Given the description of an element on the screen output the (x, y) to click on. 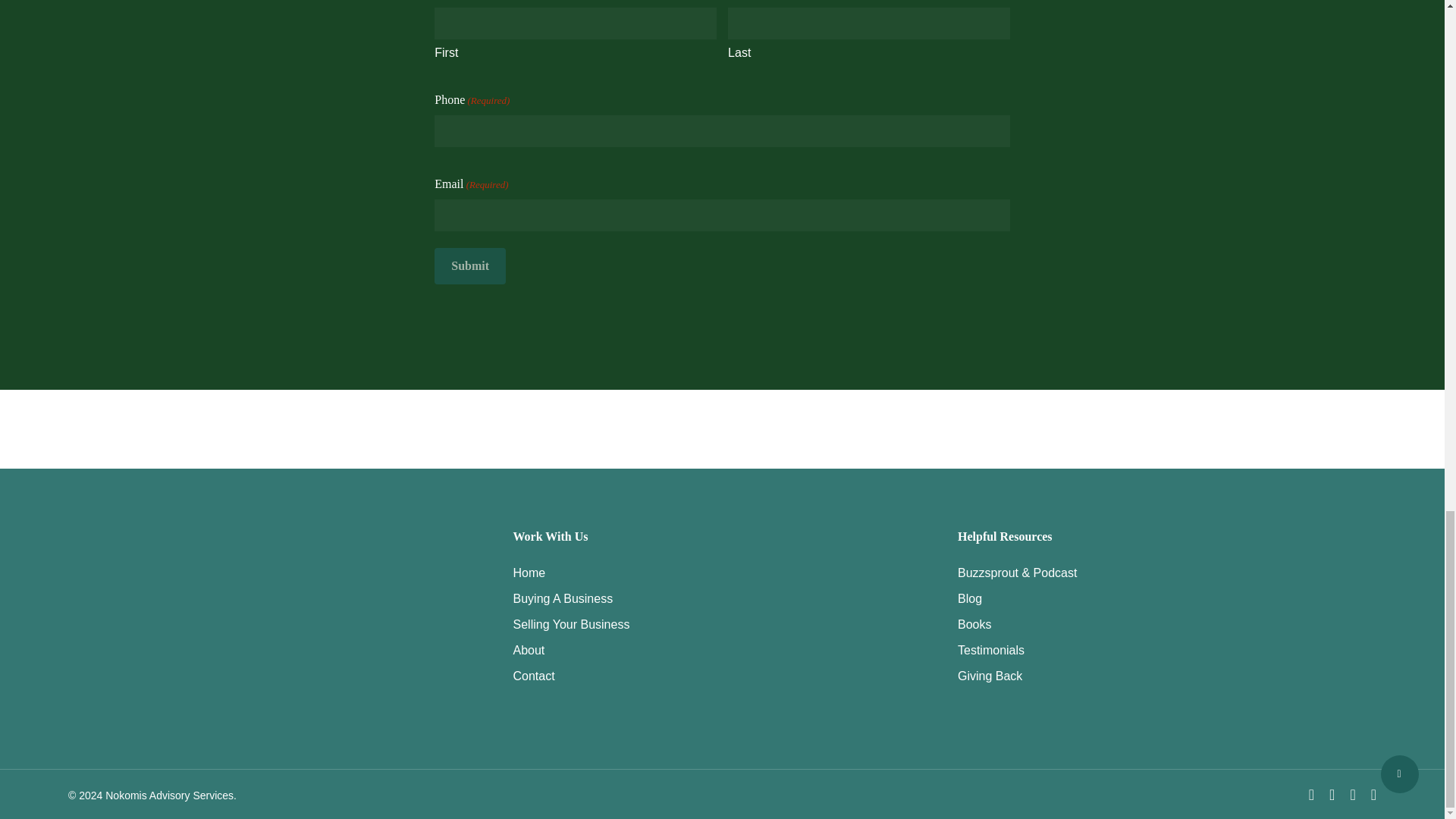
Submit (469, 266)
Submit (469, 266)
